Given the description of an element on the screen output the (x, y) to click on. 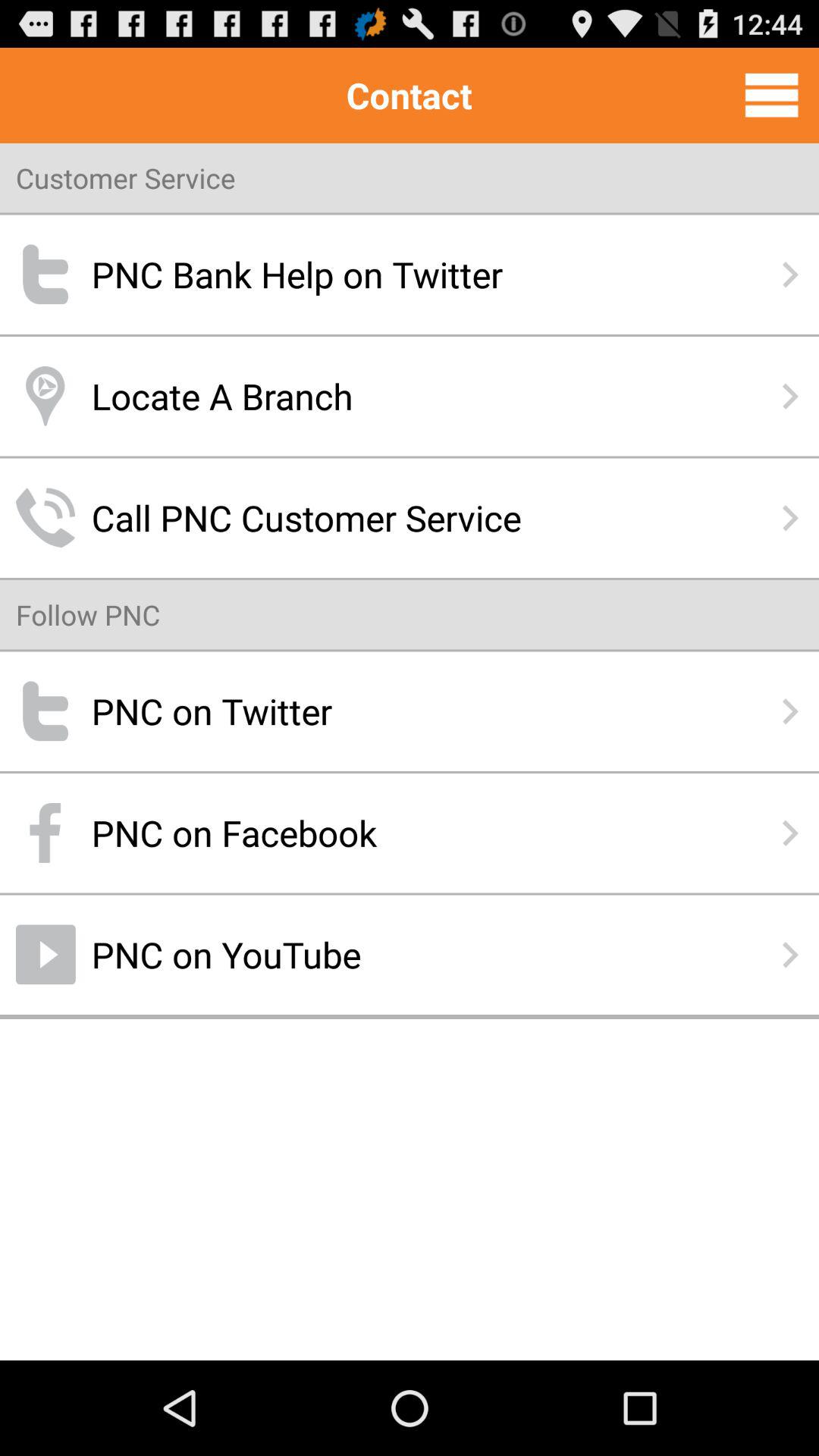
open follow pnc (87, 614)
